Given the description of an element on the screen output the (x, y) to click on. 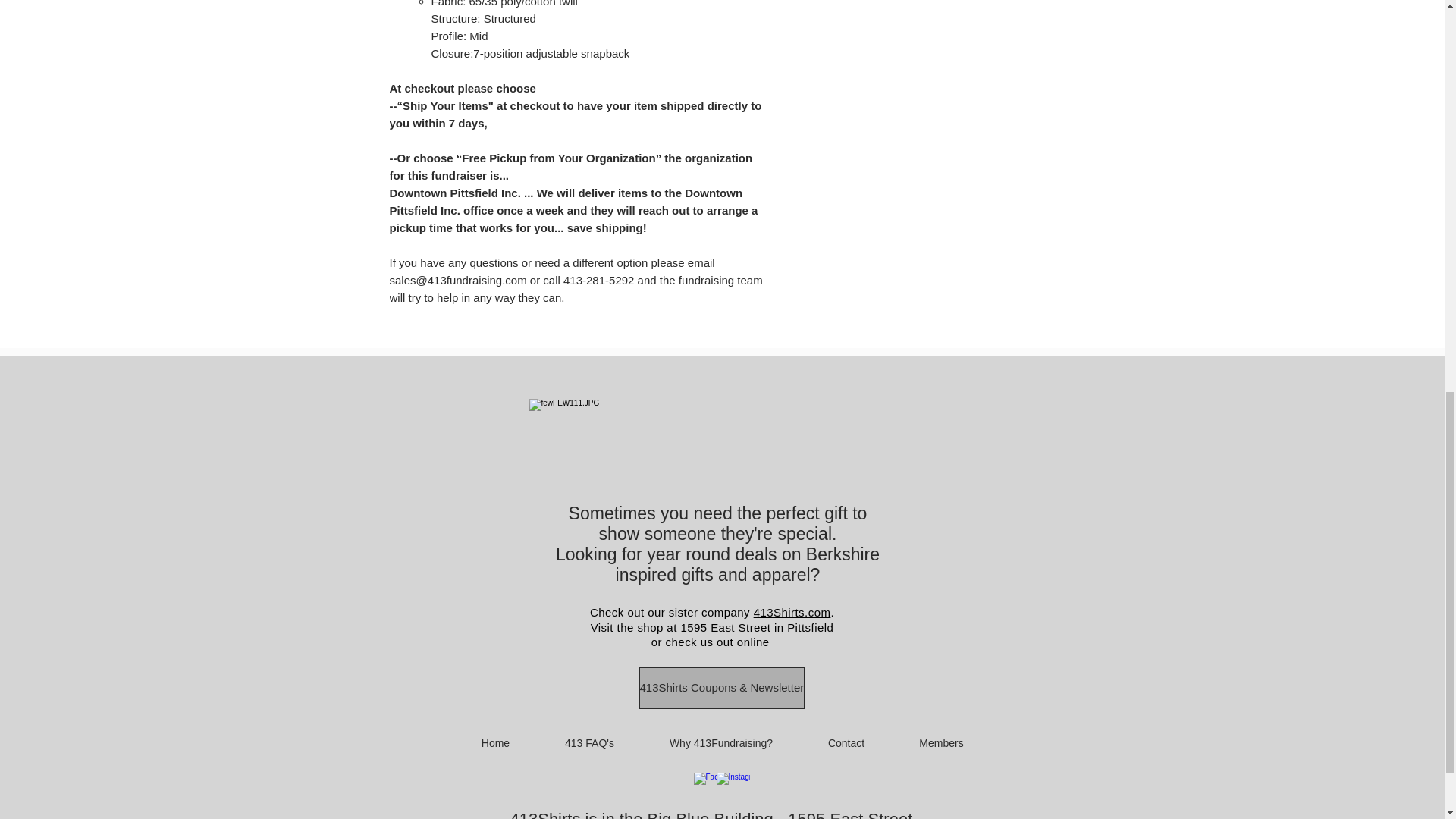
Why 413Fundraising? (720, 742)
Members (940, 742)
Home (494, 742)
413 FAQ's (589, 742)
413Shirts.com (792, 612)
Contact (846, 742)
